Given the description of an element on the screen output the (x, y) to click on. 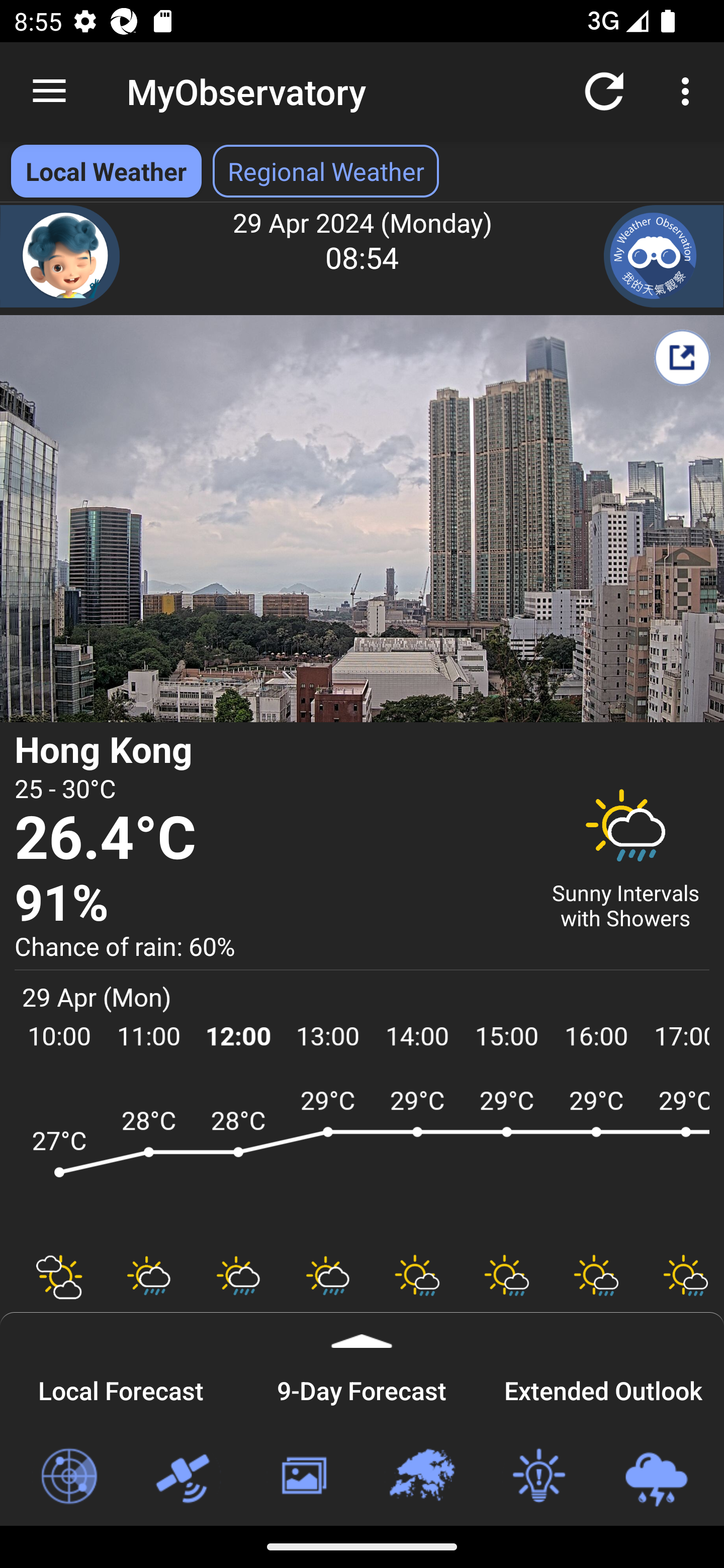
Navigate up (49, 91)
Refresh (604, 90)
More options (688, 90)
Local Weather Local Weather selected (105, 170)
Regional Weather Select Regional Weather (325, 170)
Chatbot (60, 256)
My Weather Observation (663, 256)
Share My Weather Report (681, 357)
26.4°C Temperature
26.4 degree Celsius (270, 839)
91% Relative Humidity
91 percent (270, 903)
ARWF (361, 1160)
Expand (362, 1330)
Local Forecast (120, 1387)
Extended Outlook (603, 1387)
Radar Images (68, 1476)
Satellite Images (185, 1476)
Weather Photos (302, 1476)
Regional Weather (420, 1476)
Weather Tips (537, 1476)
Loc-based Rain & Lightning Forecast (655, 1476)
